Given the description of an element on the screen output the (x, y) to click on. 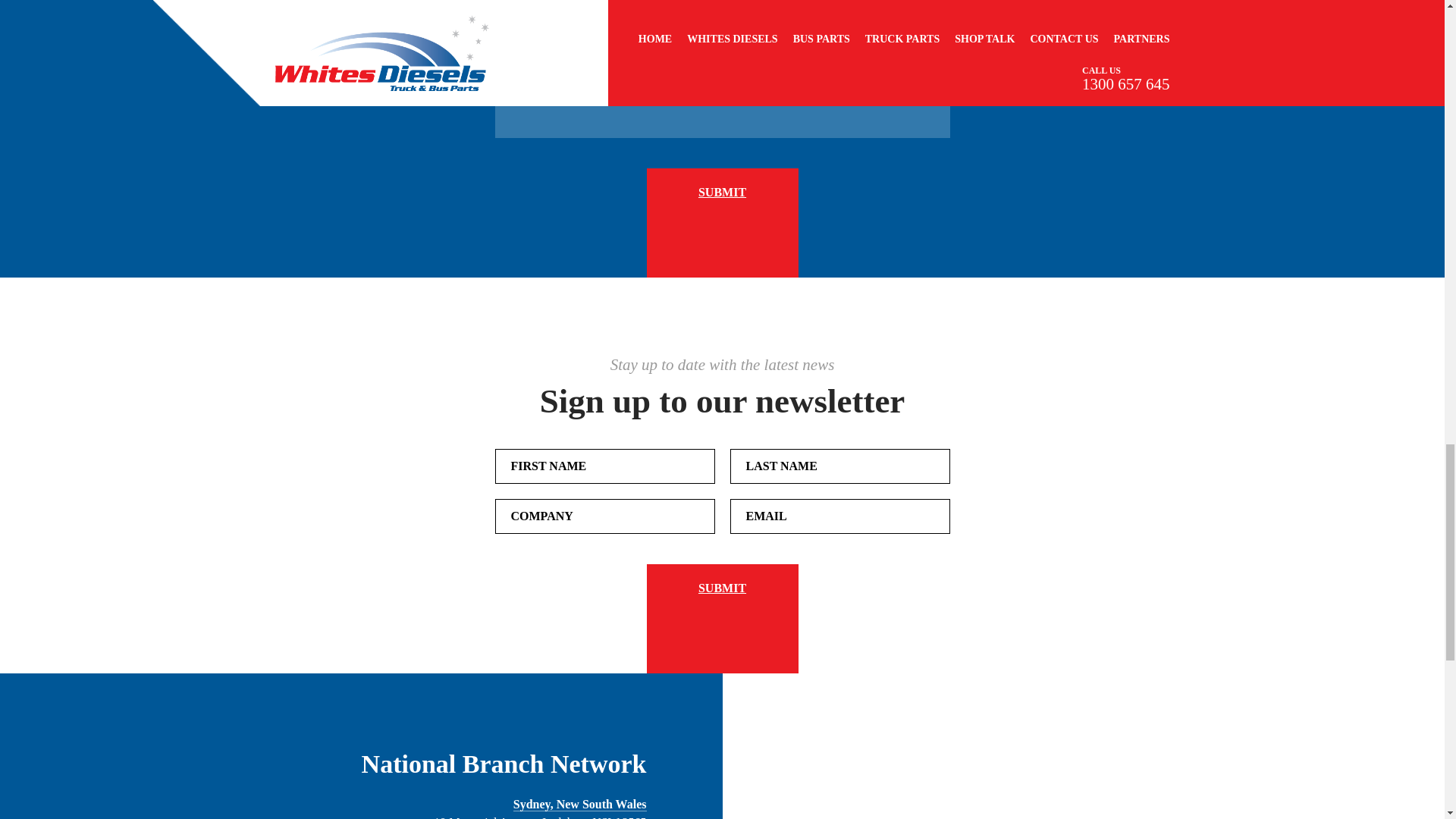
Sydney, New South Wales (579, 803)
Submit (721, 222)
Submit (721, 222)
Submit (721, 618)
Submit (721, 618)
